Given the description of an element on the screen output the (x, y) to click on. 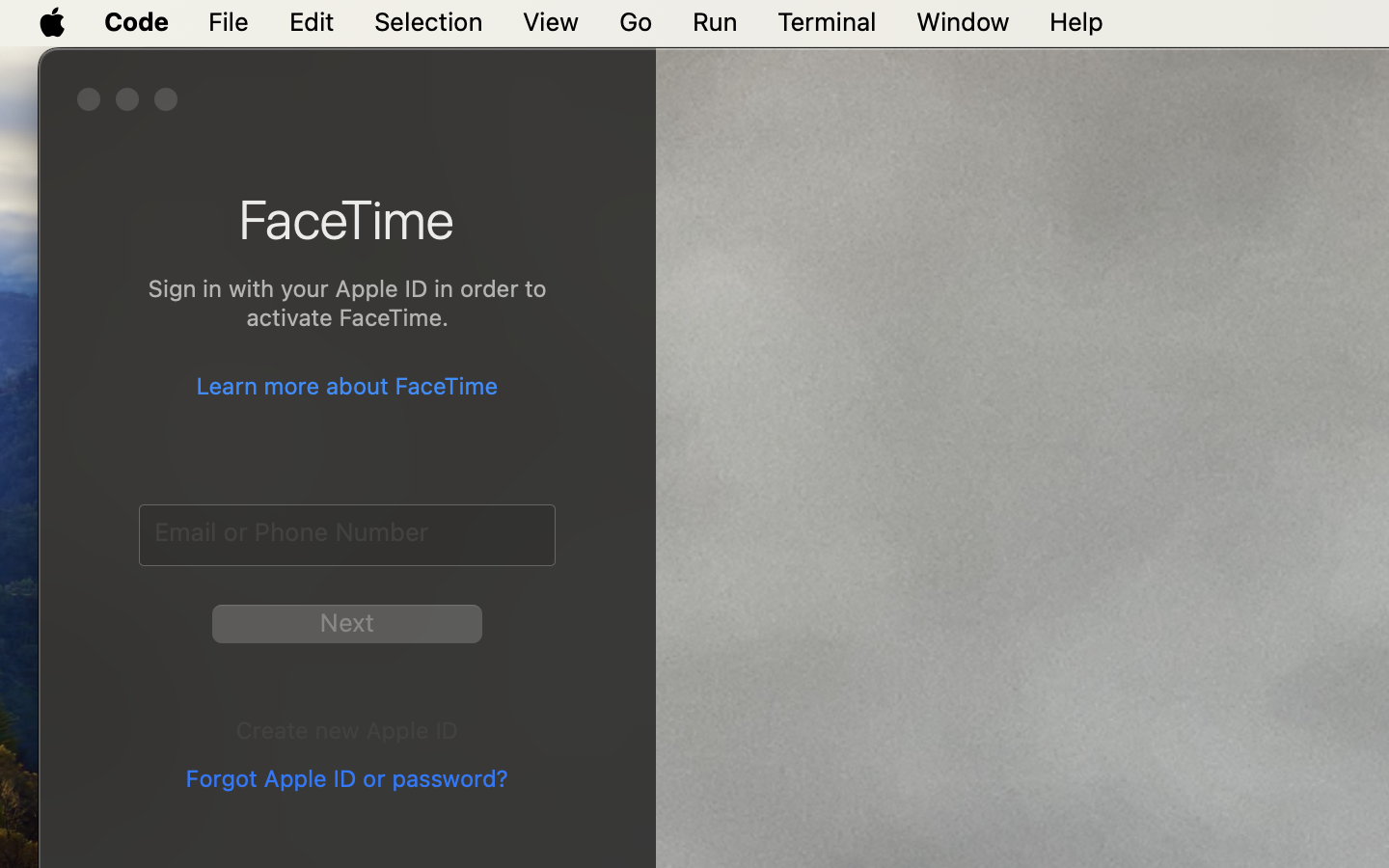
FaceTime Element type: AXStaticText (346, 218)
Sign in with your Apple ID in order to activate FaceTime. Element type: AXStaticText (346, 306)
